Given the description of an element on the screen output the (x, y) to click on. 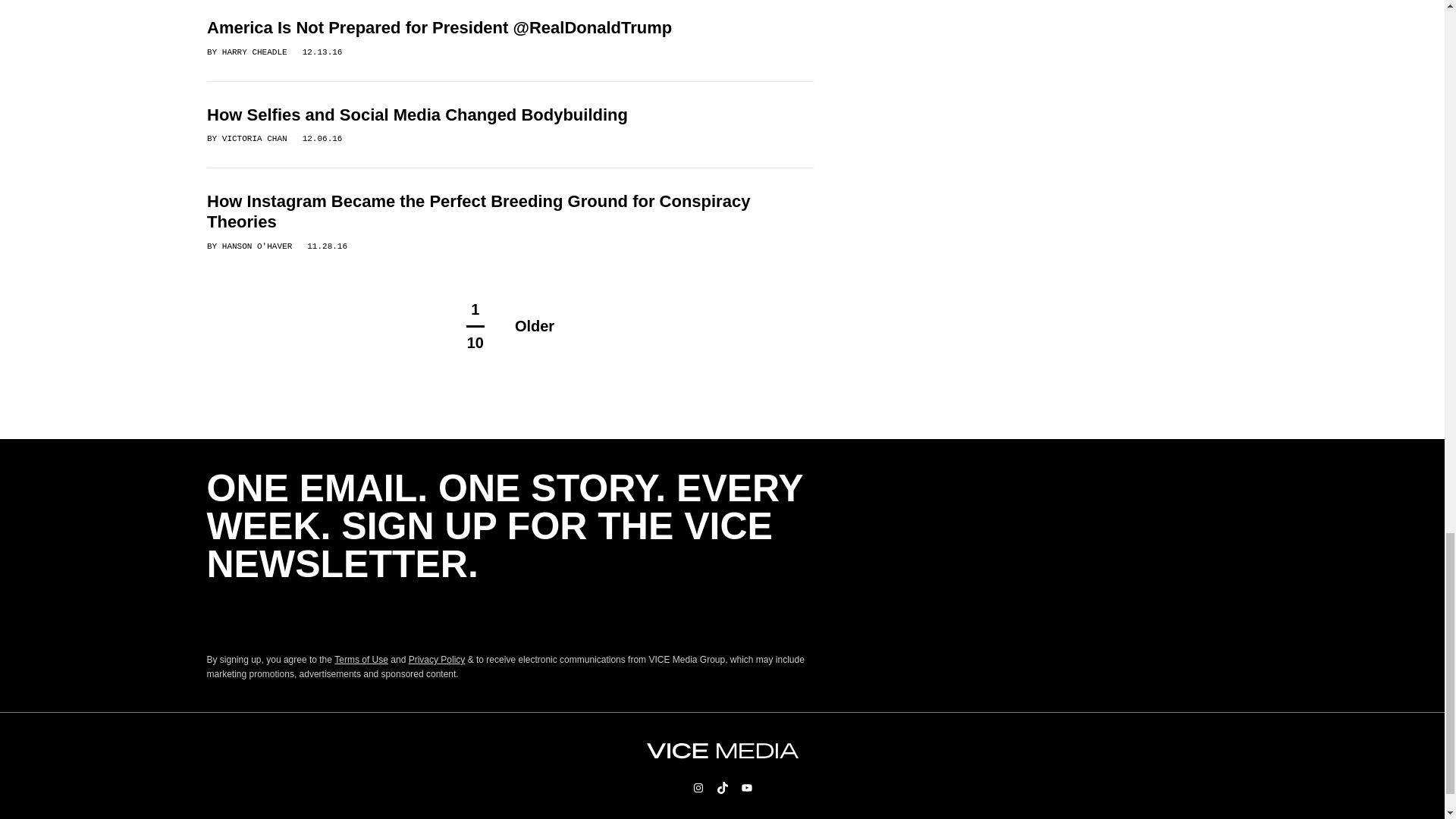
Posts by Hanson O'Haver (256, 245)
Posts by Harry Cheadle (253, 51)
Posts by Victoria Chan (253, 138)
